Given the description of an element on the screen output the (x, y) to click on. 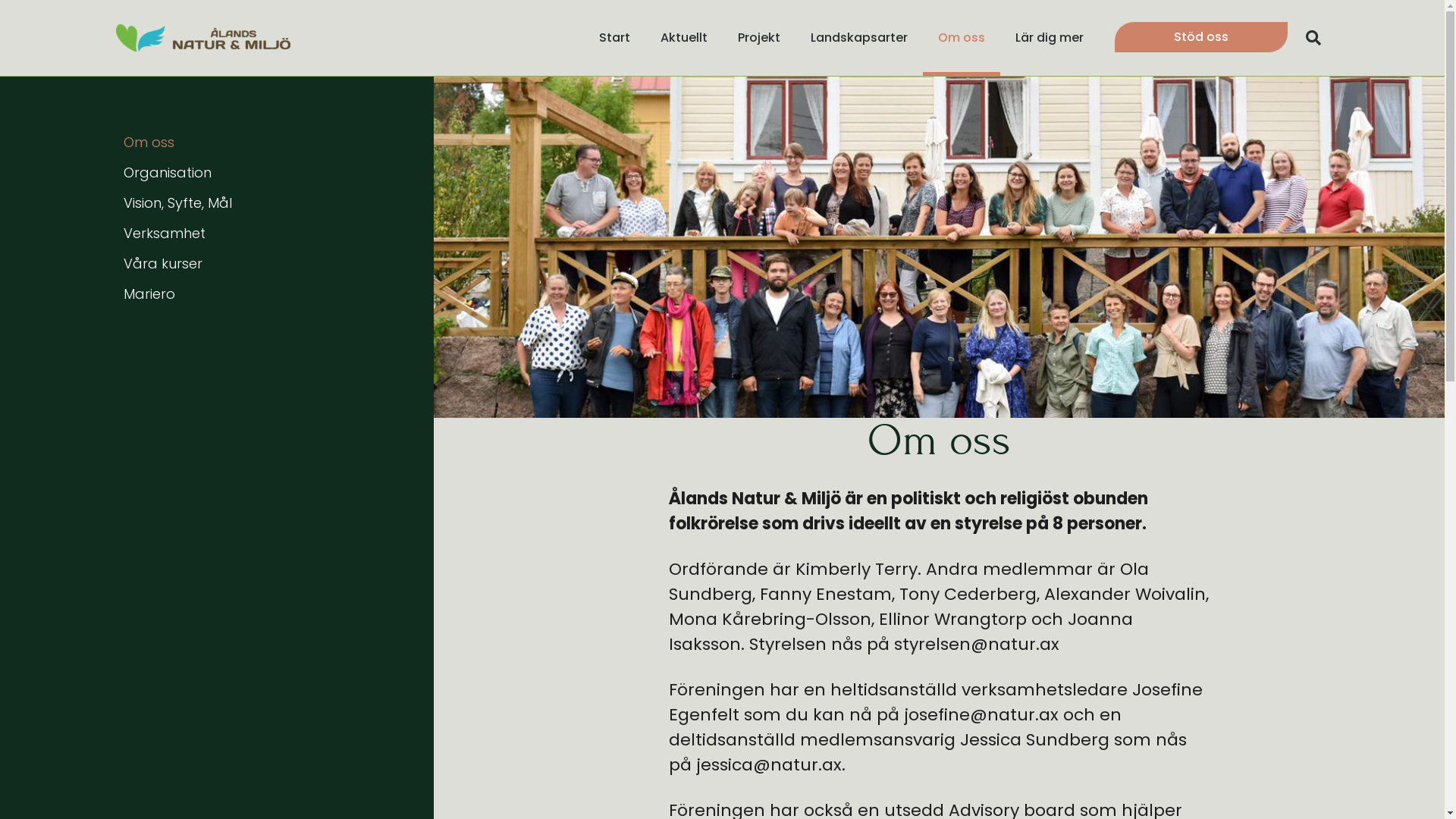
Om oss Element type: text (266, 142)
Projekt Element type: text (758, 37)
Aktuellt Element type: text (683, 37)
Verksamhet Element type: text (266, 233)
Mariero Element type: text (266, 294)
Om oss Element type: text (961, 37)
Landskapsarter Element type: text (858, 37)
Start Element type: text (614, 37)
Organisation Element type: text (266, 172)
